Given the description of an element on the screen output the (x, y) to click on. 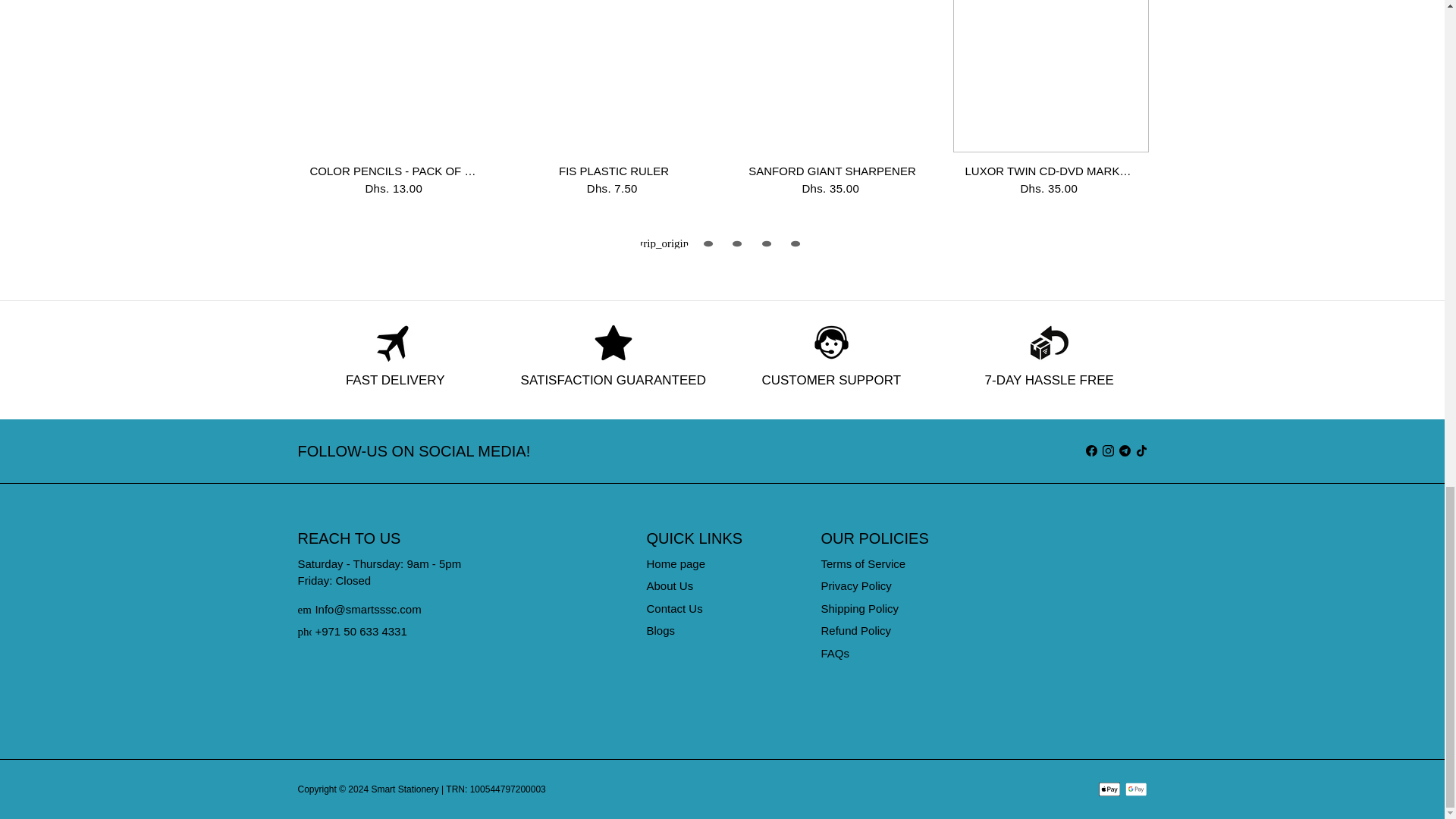
Google Pay (1136, 789)
Apple Pay (1108, 789)
